Given the description of an element on the screen output the (x, y) to click on. 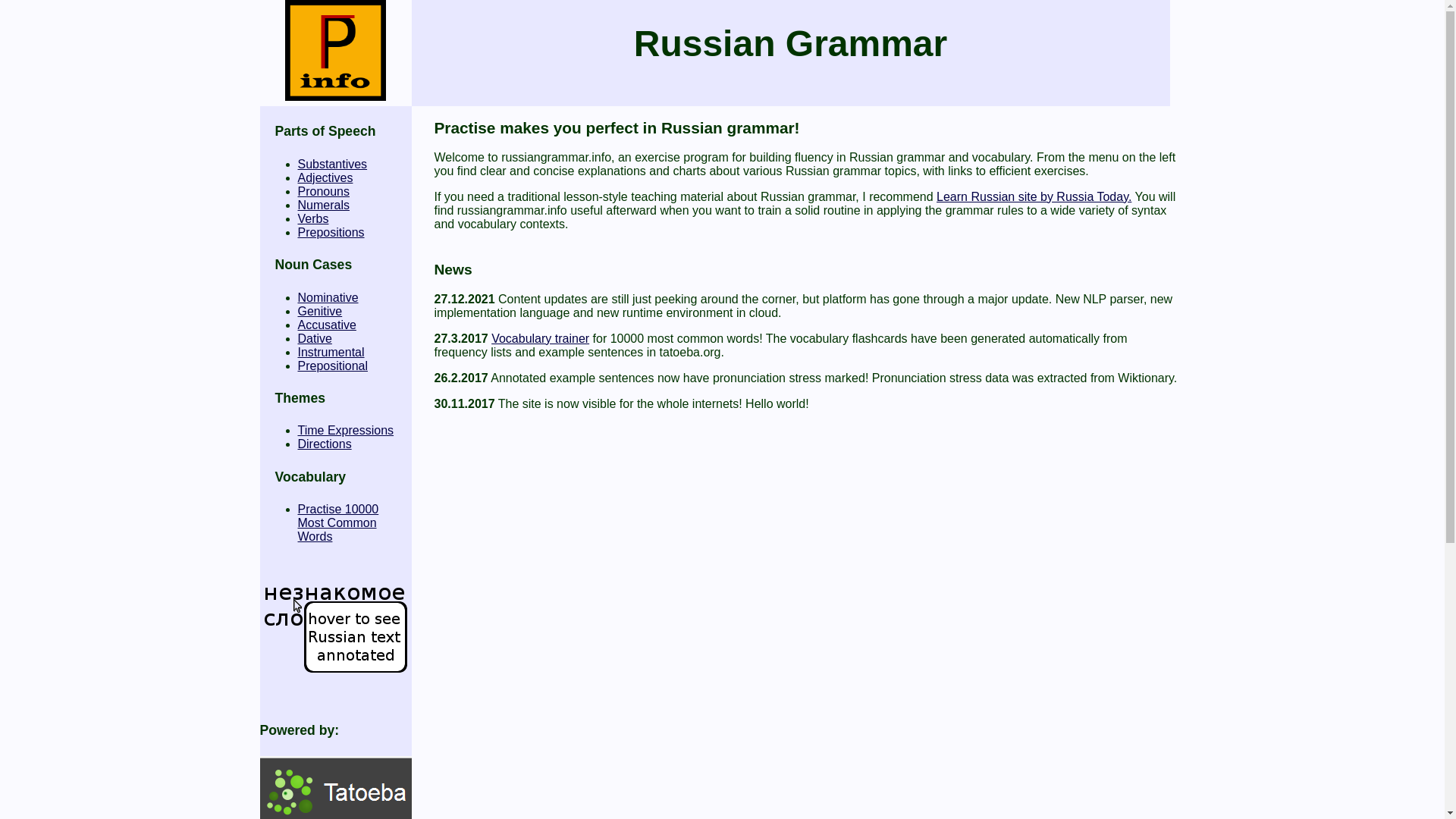
Dative (337, 522)
Time Expressions (314, 338)
Substantives (345, 430)
Nominative (331, 164)
Verbs (327, 297)
Instrumental (313, 218)
Directions (330, 351)
Prepositions (323, 443)
Vocabulary trainer (330, 232)
Prepositional (540, 338)
Learn Russian site by Russia Today. (332, 365)
Adjectives (1033, 195)
Accusative (324, 177)
Pronouns (326, 324)
